Given the description of an element on the screen output the (x, y) to click on. 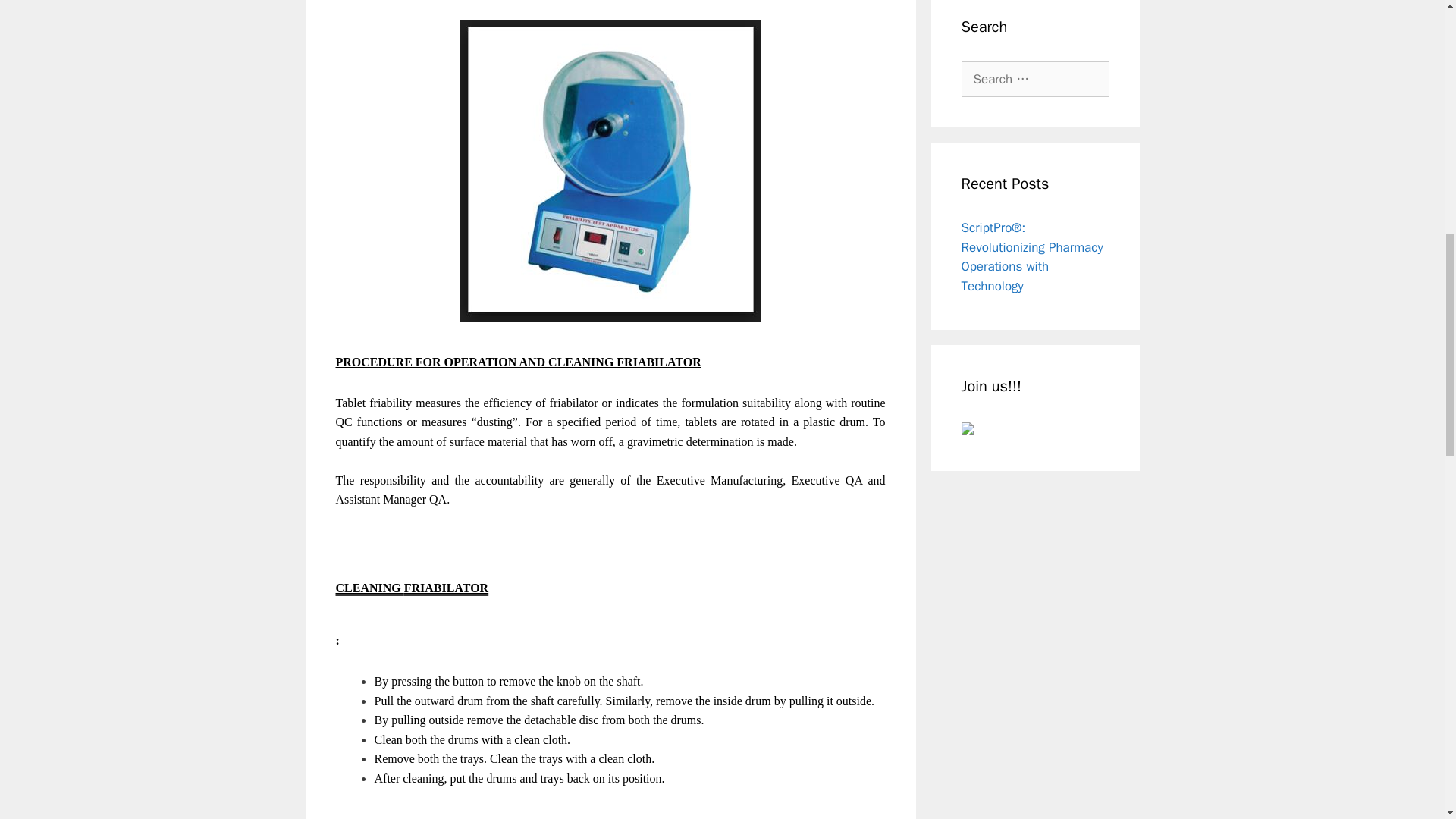
Search for: (1034, 78)
